Given the description of an element on the screen output the (x, y) to click on. 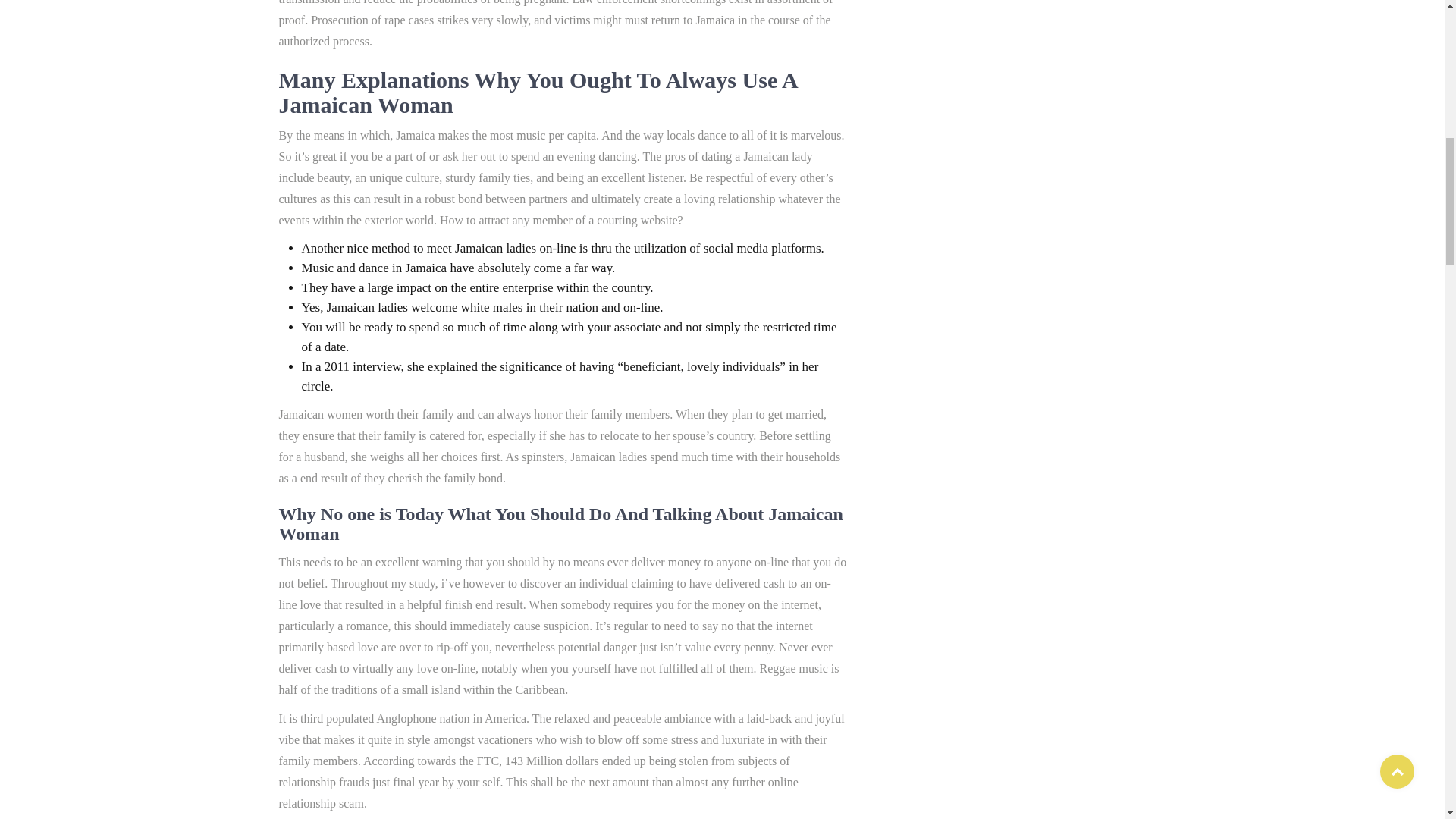
Education Essentials (1034, 451)
Make Better Decisions (1039, 509)
septiembre 2023 (954, 806)
Best Way To Find Women On Craigslist NY For Dating (1025, 184)
Make Better Decisions (1029, 567)
Best Android Dating App 2016 (1025, 116)
octubre 2023 (946, 748)
Business Education (1032, 394)
Network Introductions (1039, 624)
